Given the description of an element on the screen output the (x, y) to click on. 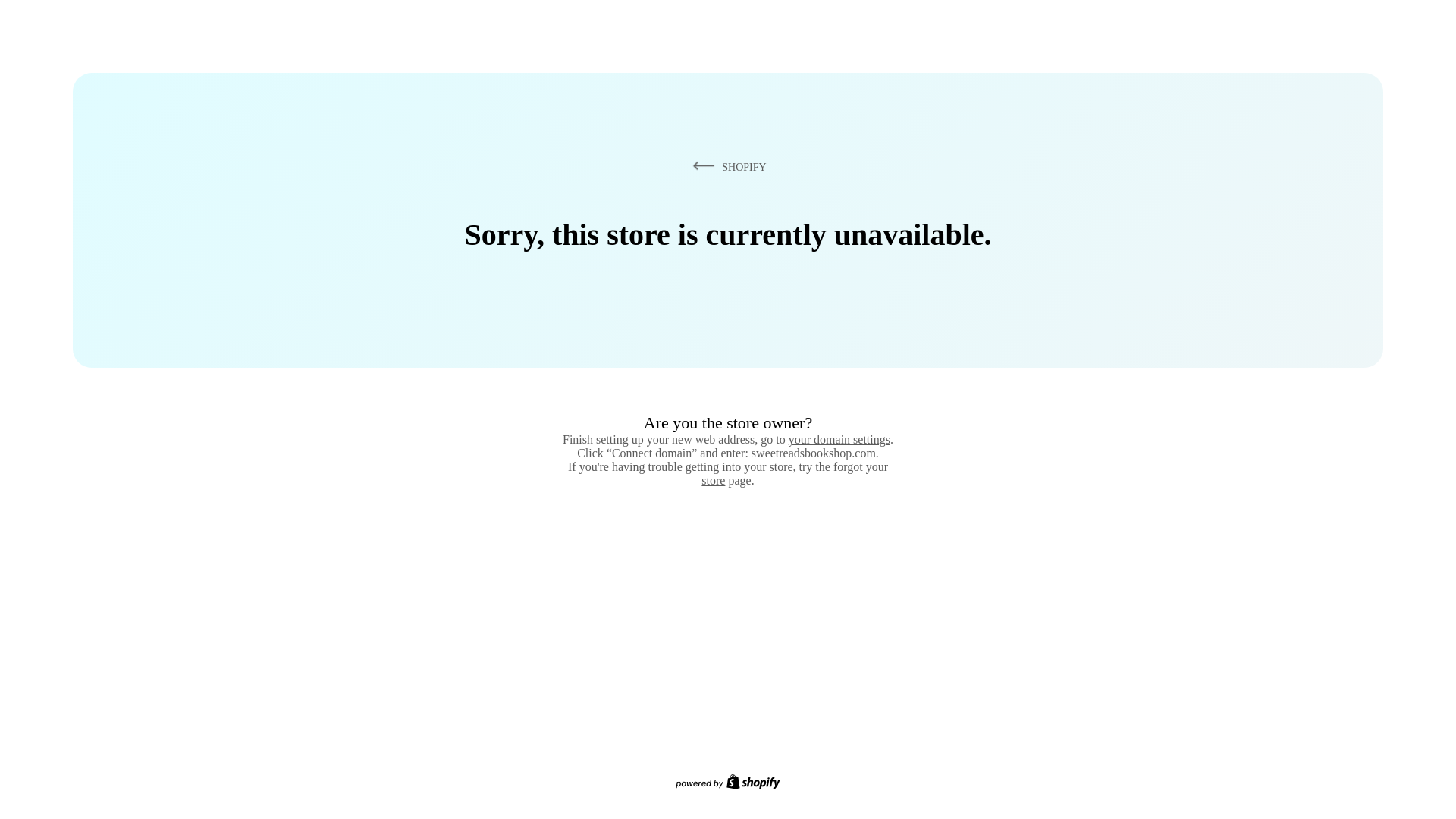
forgot your store (794, 473)
your domain settings (839, 439)
SHOPIFY (726, 166)
